Given the description of an element on the screen output the (x, y) to click on. 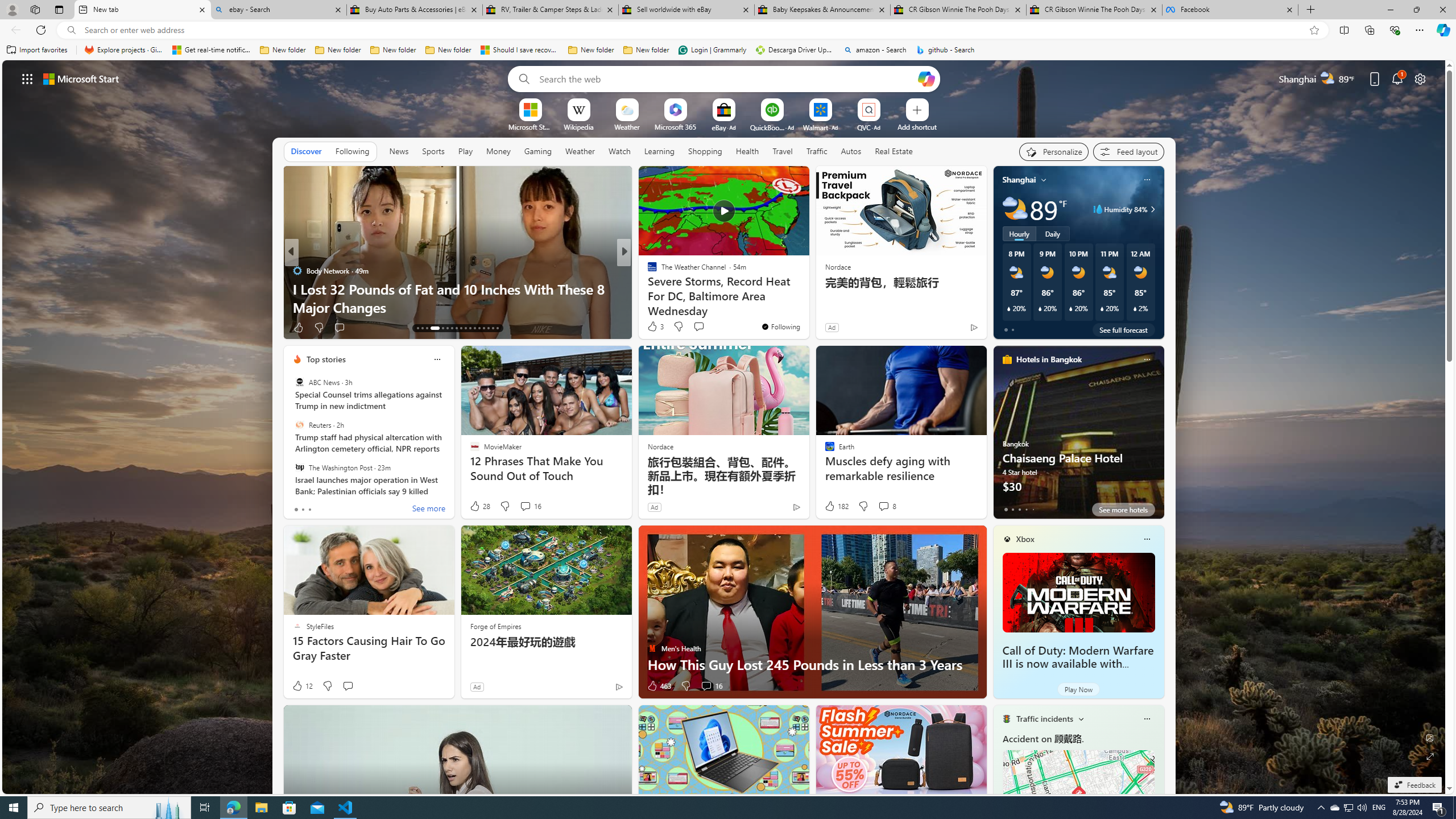
Shopping (705, 151)
App launcher (27, 78)
Shanghai (1018, 179)
AutomationID: tab-13 (417, 328)
News (398, 151)
Play Now (1078, 689)
Dailymotion (647, 288)
Travel (782, 151)
TheStreet (647, 288)
Favorites bar (728, 49)
AutomationID: tab-19 (451, 328)
Learning (658, 151)
Start the conversation (347, 685)
7 Like (651, 327)
